Given the description of an element on the screen output the (x, y) to click on. 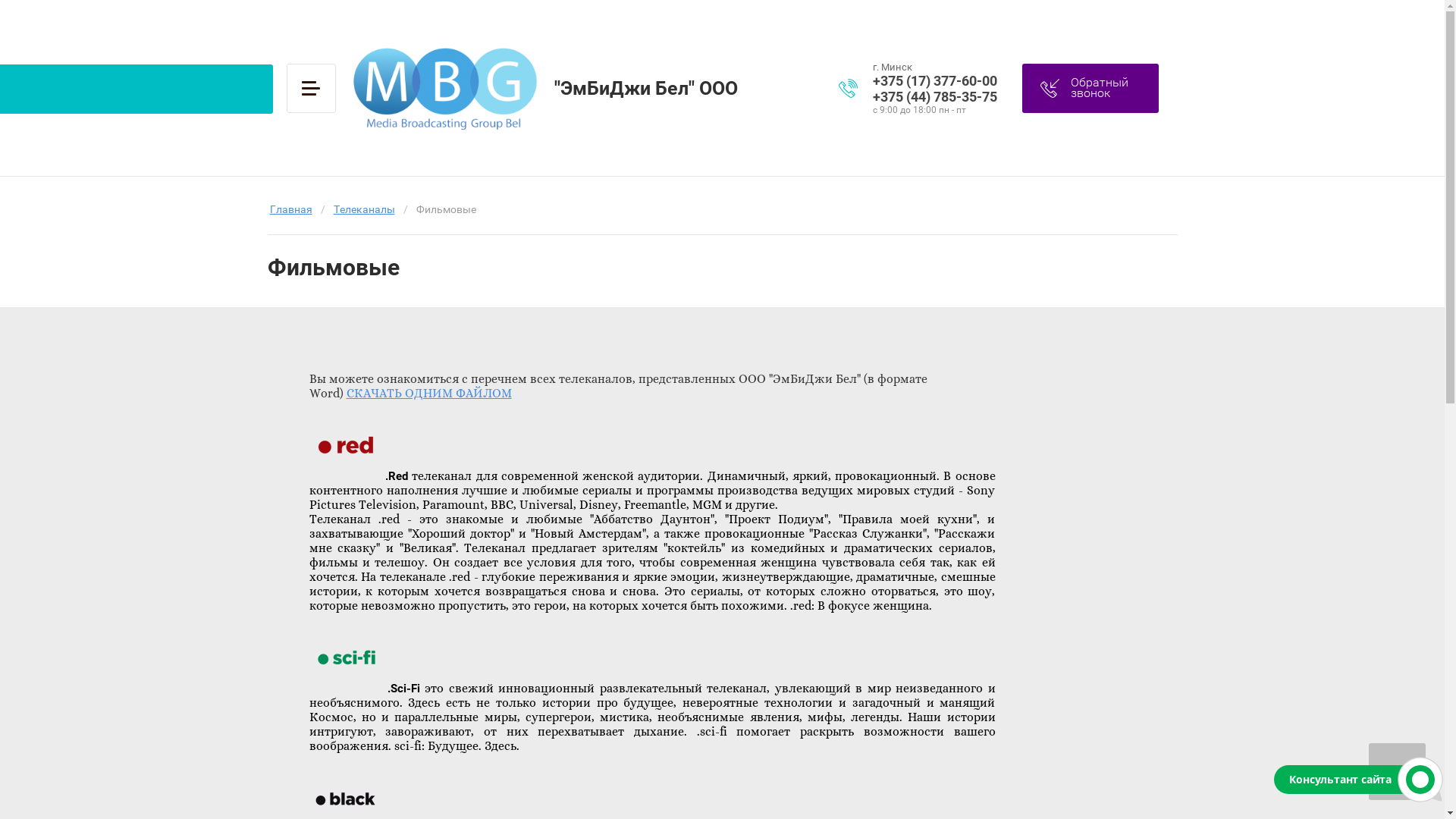
+375 (17) 377-60-00 Element type: text (941, 80)
+375 (44) 785-35-75 Element type: text (941, 95)
